Given the description of an element on the screen output the (x, y) to click on. 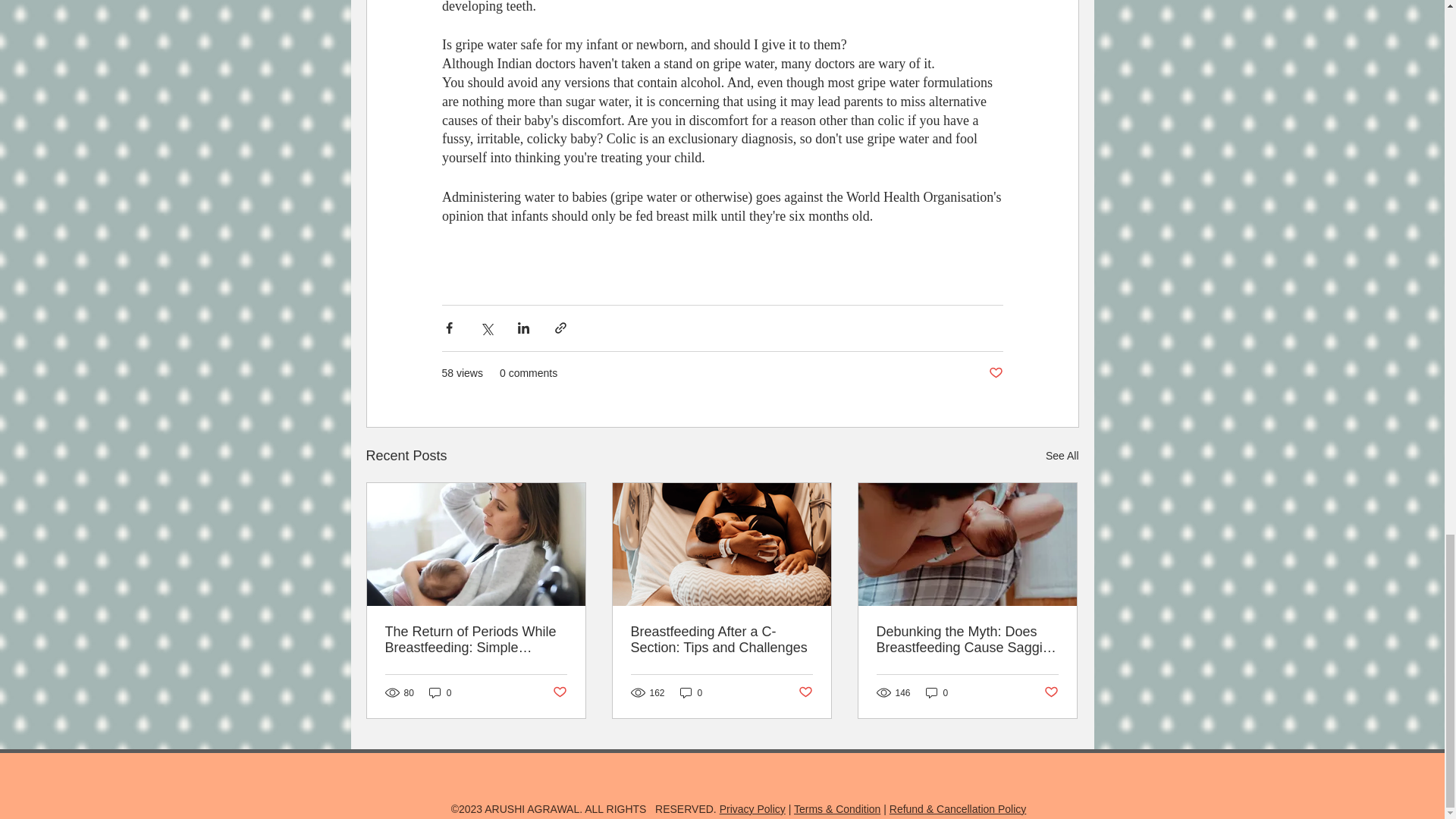
Post not marked as liked (804, 692)
Breastfeeding After a C-Section: Tips and Challenges (721, 640)
Post not marked as liked (558, 692)
0 (691, 692)
Post not marked as liked (995, 373)
0 (440, 692)
0 (937, 692)
Post not marked as liked (1050, 692)
See All (1061, 455)
